Given the description of an element on the screen output the (x, y) to click on. 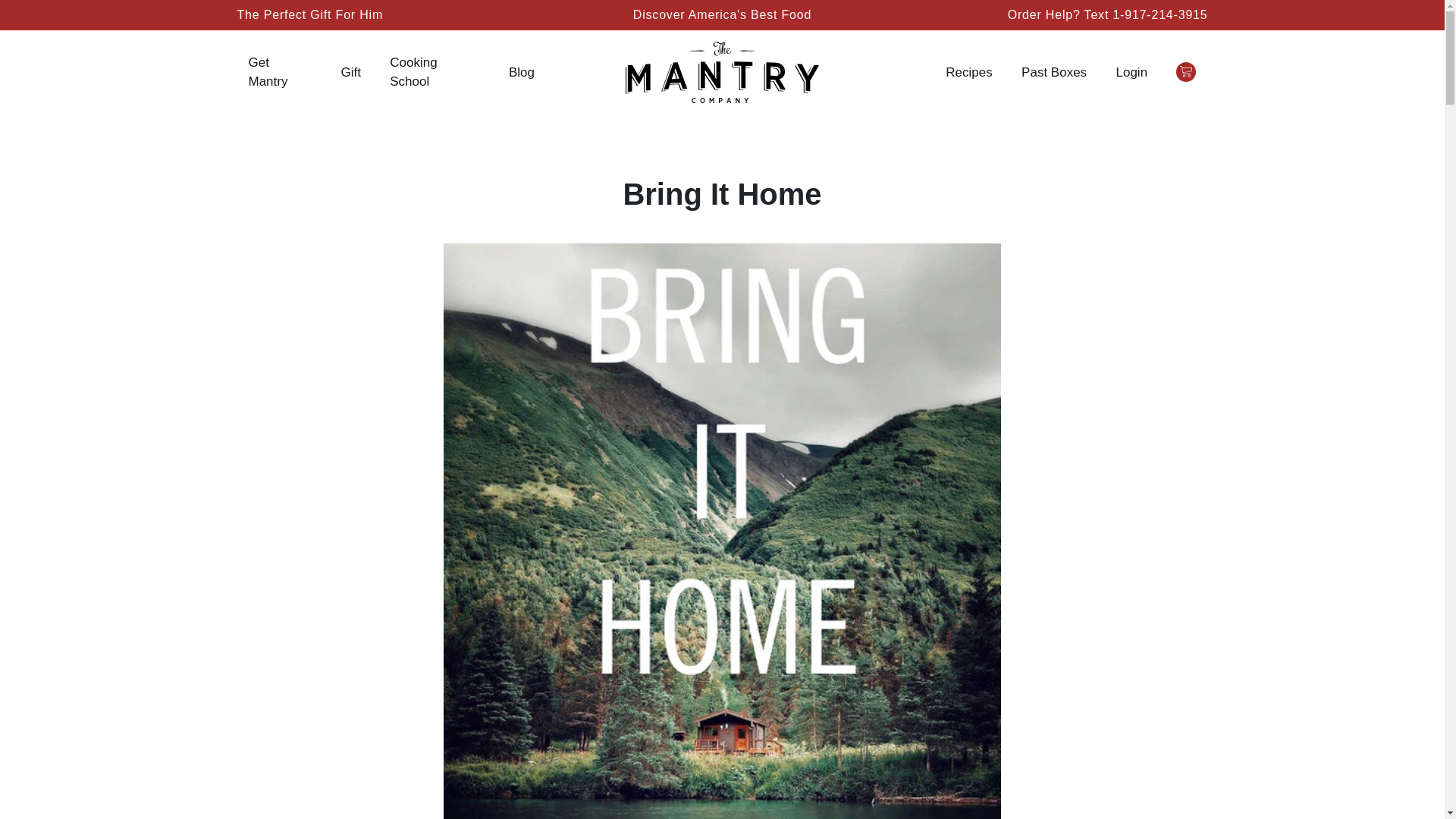
Cooking School (434, 72)
Cooking School (434, 72)
account (1131, 72)
Recipes (967, 72)
Gift (349, 72)
Login (1131, 72)
Blog (521, 72)
Past Boxes (1054, 72)
The Perfect Gift For Him (391, 14)
Recipes (967, 72)
Gift (349, 72)
Mantry Inc. (722, 72)
Blog (521, 72)
Get Mantry (280, 72)
Order Help? Text 1-917-214-3915 (1107, 14)
